Given the description of an element on the screen output the (x, y) to click on. 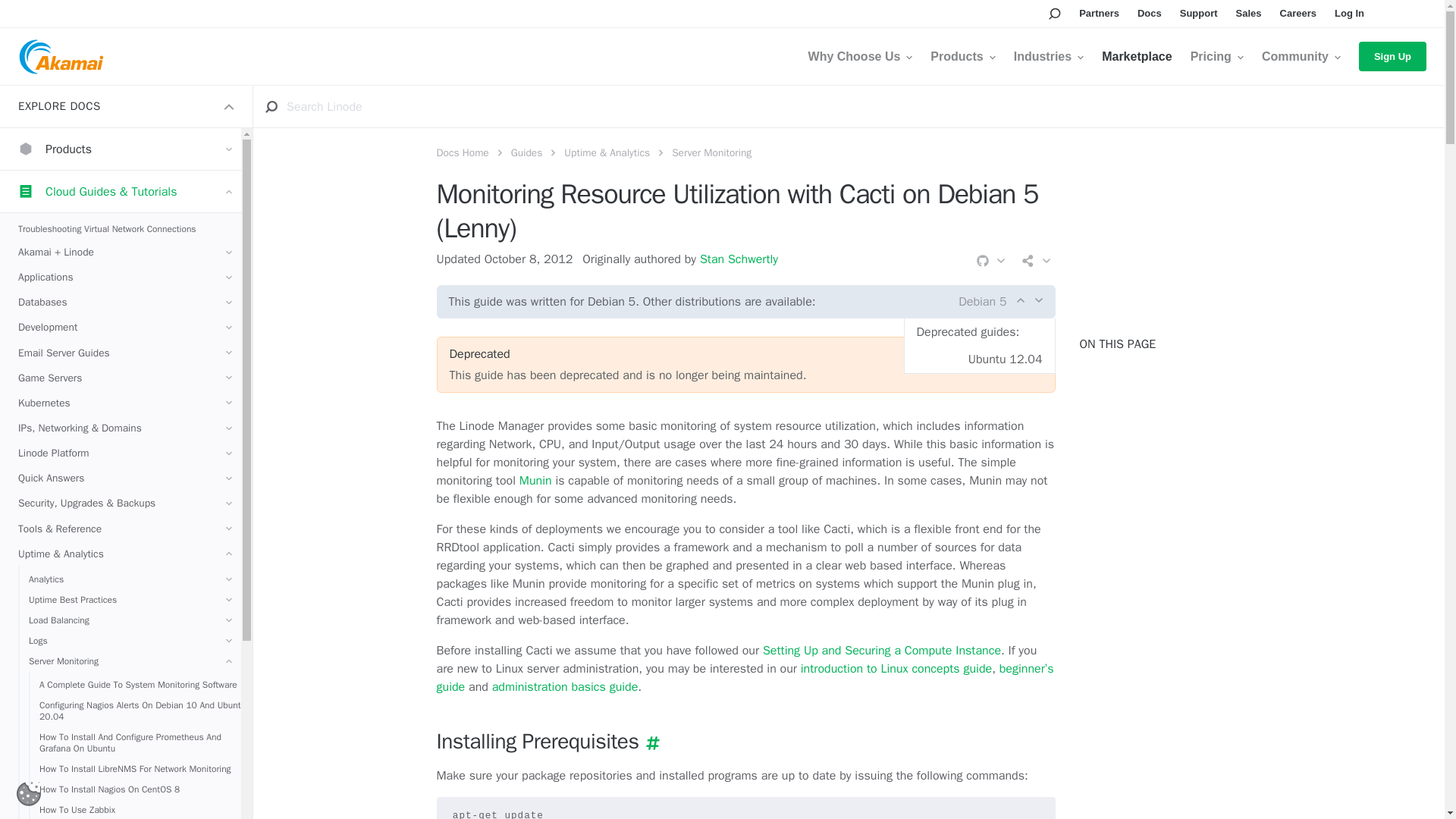
Sign Up (1392, 55)
Marketplace (1137, 55)
Products (962, 55)
Partners (1098, 13)
linode.com Cookie Preferences (28, 793)
Careers (1297, 13)
Community (1301, 55)
Pricing (1217, 55)
Industries (1048, 55)
Docs (1149, 13)
Why Choose Us (860, 55)
Support (1198, 13)
Sales (1249, 13)
Log In (1349, 13)
